Given the description of an element on the screen output the (x, y) to click on. 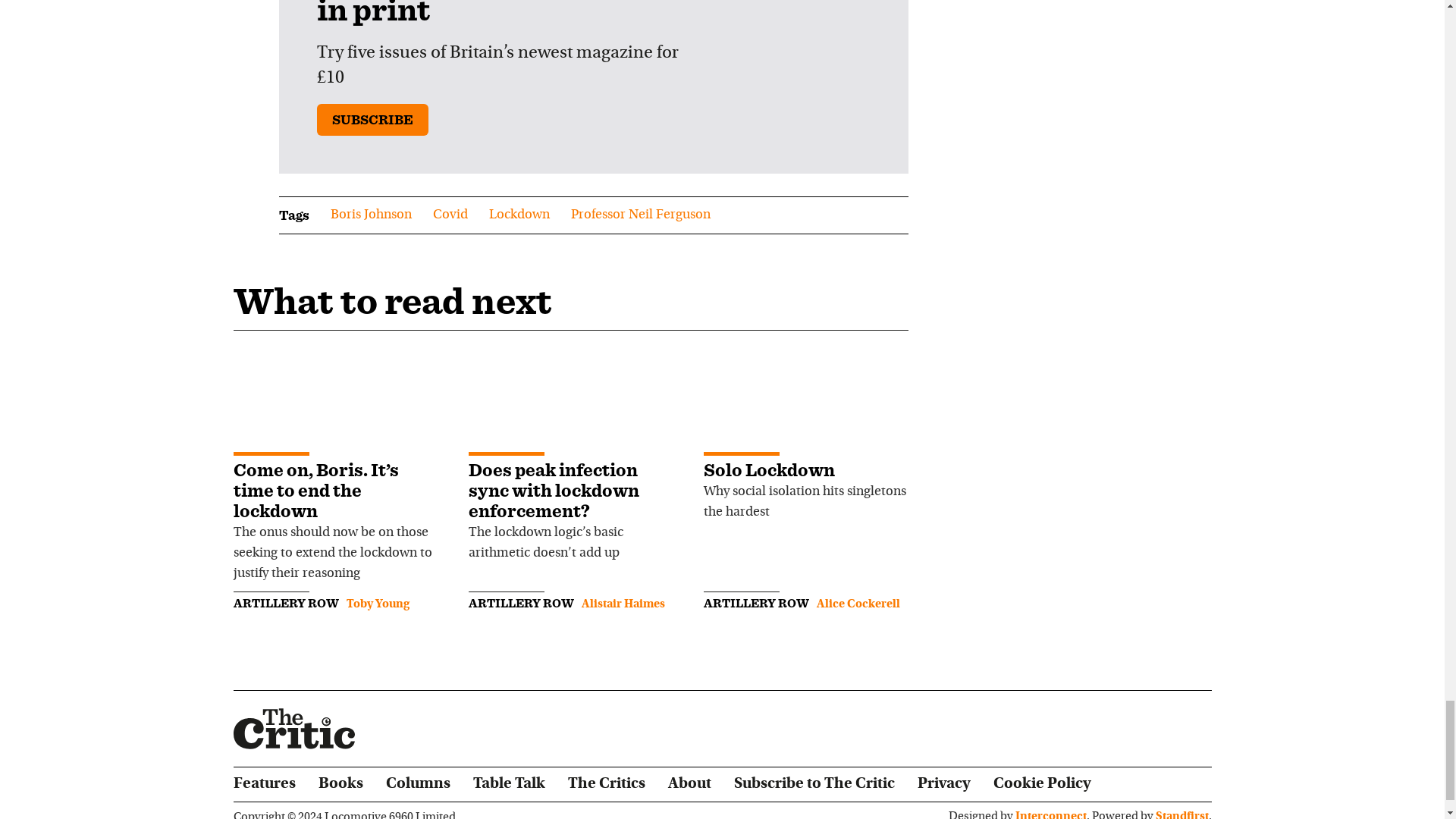
Posts by Alistair Haimes (621, 604)
Posts by Toby Young (377, 604)
Posts by Alice Cockerell (857, 604)
